Given the description of an element on the screen output the (x, y) to click on. 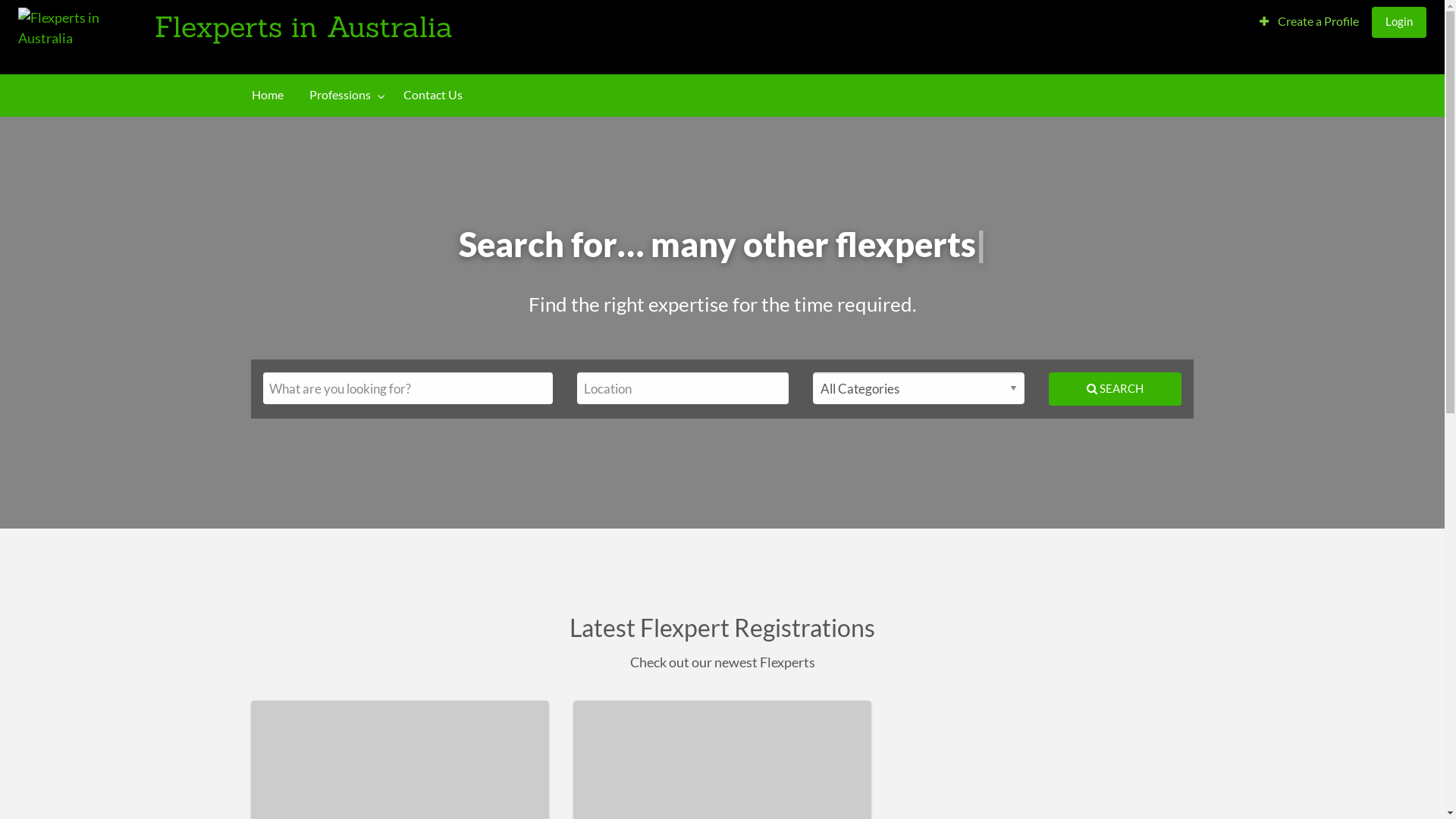
Flexperts in Australia Element type: text (303, 25)
Home Element type: text (267, 94)
Contact Us Element type: text (431, 94)
Professions Element type: text (343, 94)
Login Element type: text (1398, 21)
Create a Profile Element type: text (1308, 21)
SEARCH Element type: text (1114, 388)
